Given the description of an element on the screen output the (x, y) to click on. 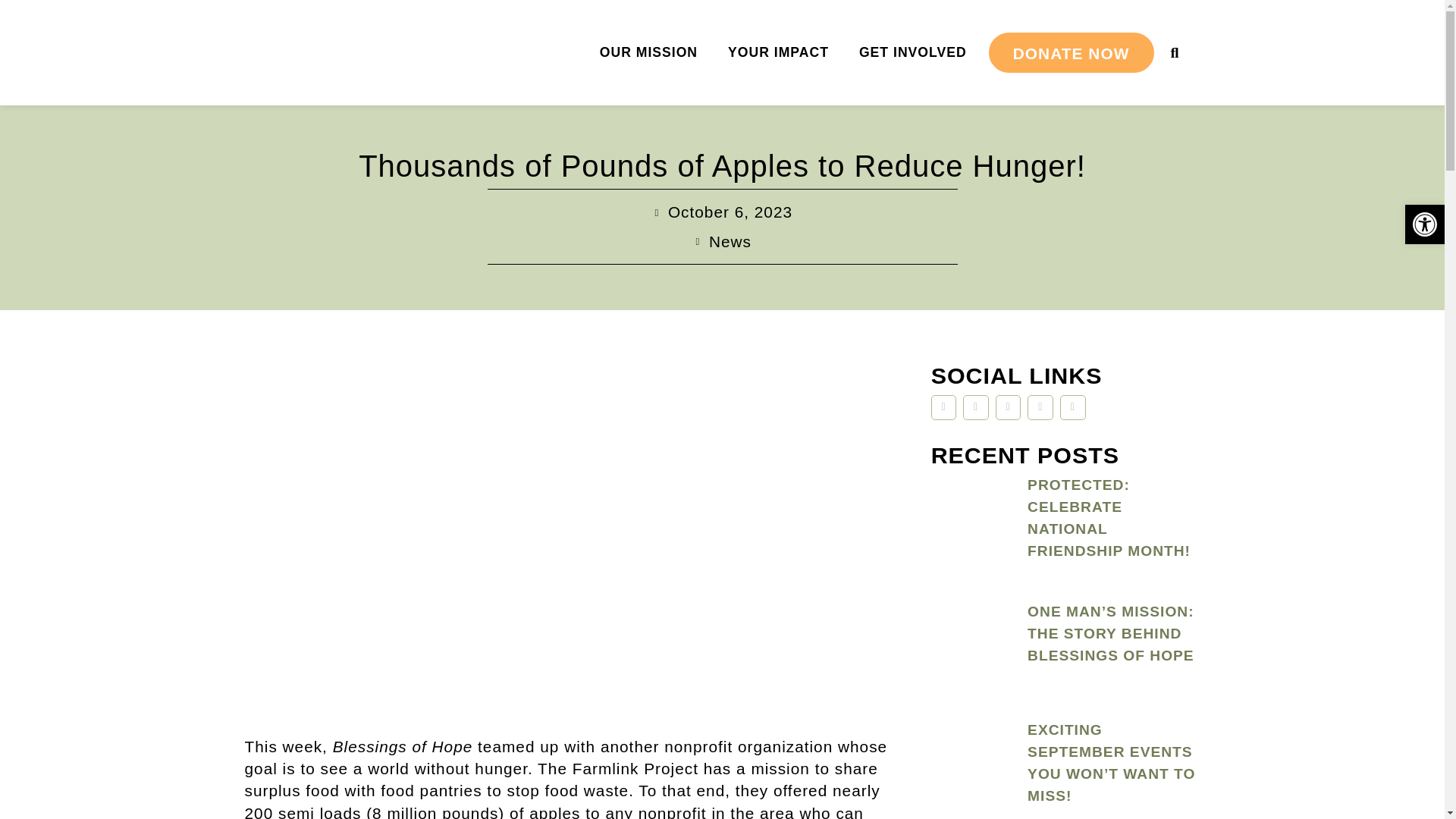
Accessibility Tools (1424, 224)
OUR MISSION (648, 52)
GET INVOLVED (912, 52)
YOUR IMPACT (778, 52)
